Given the description of an element on the screen output the (x, y) to click on. 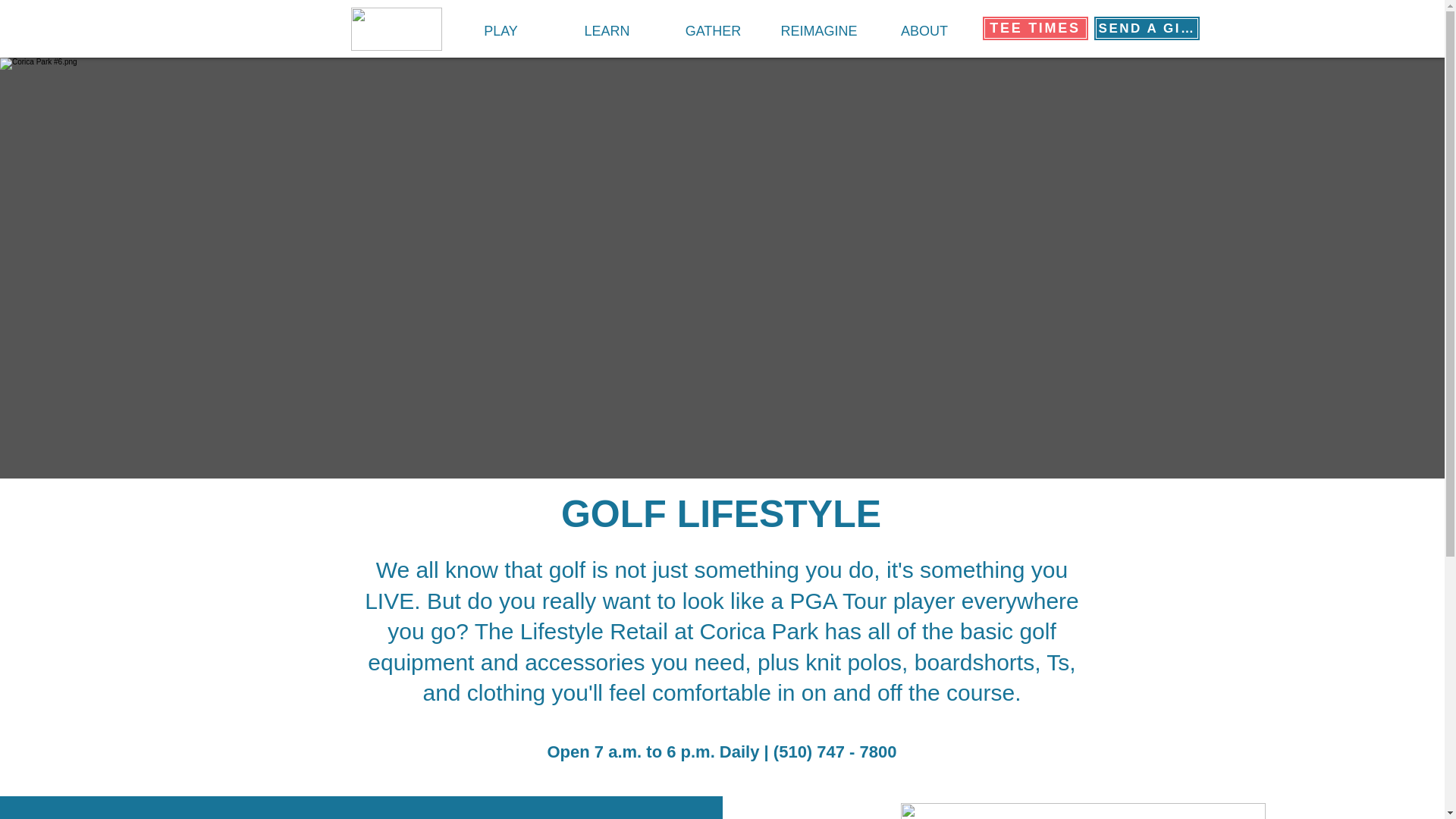
SEND A GIFT (1146, 27)
Corica Park Gift Cards-1.png (1083, 810)
TEE TIMES (1034, 27)
